Given the description of an element on the screen output the (x, y) to click on. 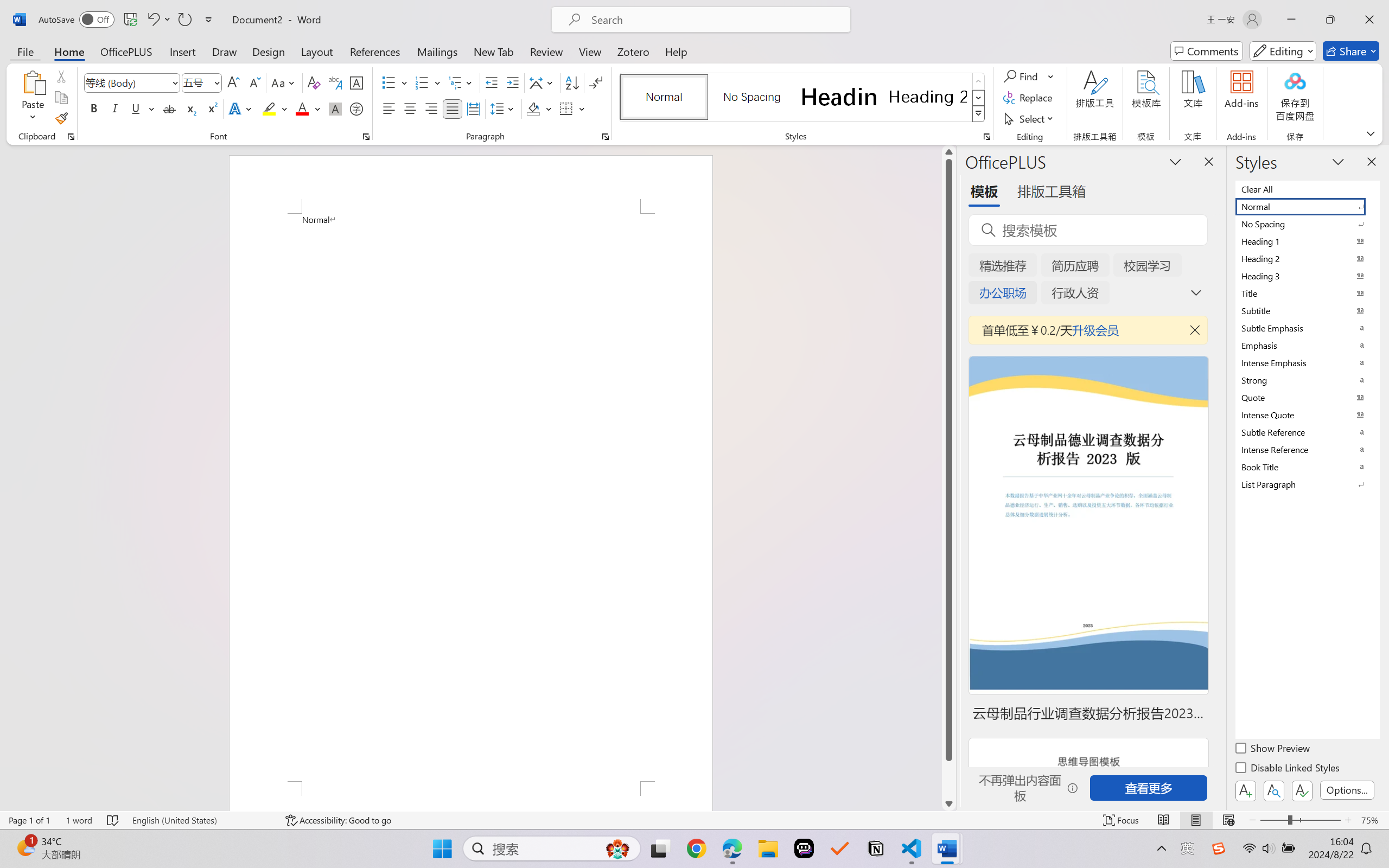
Center (409, 108)
Distributed (473, 108)
Book Title (1306, 466)
Numbering (428, 82)
Spelling and Grammar Check No Errors (113, 819)
Strong (1306, 379)
Bullets (395, 82)
Font Size (201, 82)
Open (215, 82)
Clear Formatting (313, 82)
AutomationID: QuickStylesGallery (802, 97)
Change Case (284, 82)
Heading 2 (927, 96)
Shading RGB(0, 0, 0) (533, 108)
Superscript (210, 108)
